Given the description of an element on the screen output the (x, y) to click on. 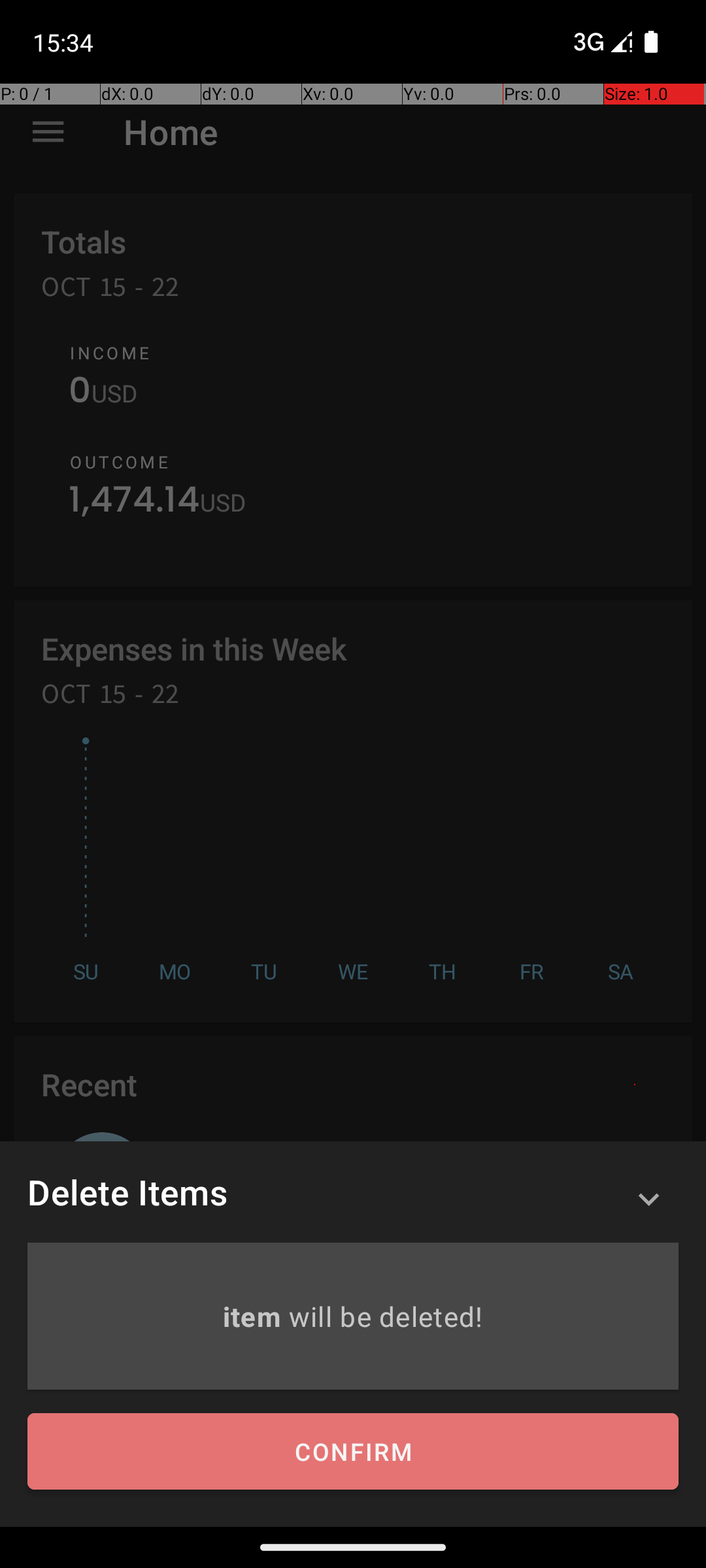
Delete Items Element type: android.widget.TextView (127, 1191)
item  Element type: android.widget.TextView (255, 1315)
will be deleted! Element type: android.widget.TextView (385, 1315)
CONFIRM Element type: android.widget.Button (352, 1451)
